Given the description of an element on the screen output the (x, y) to click on. 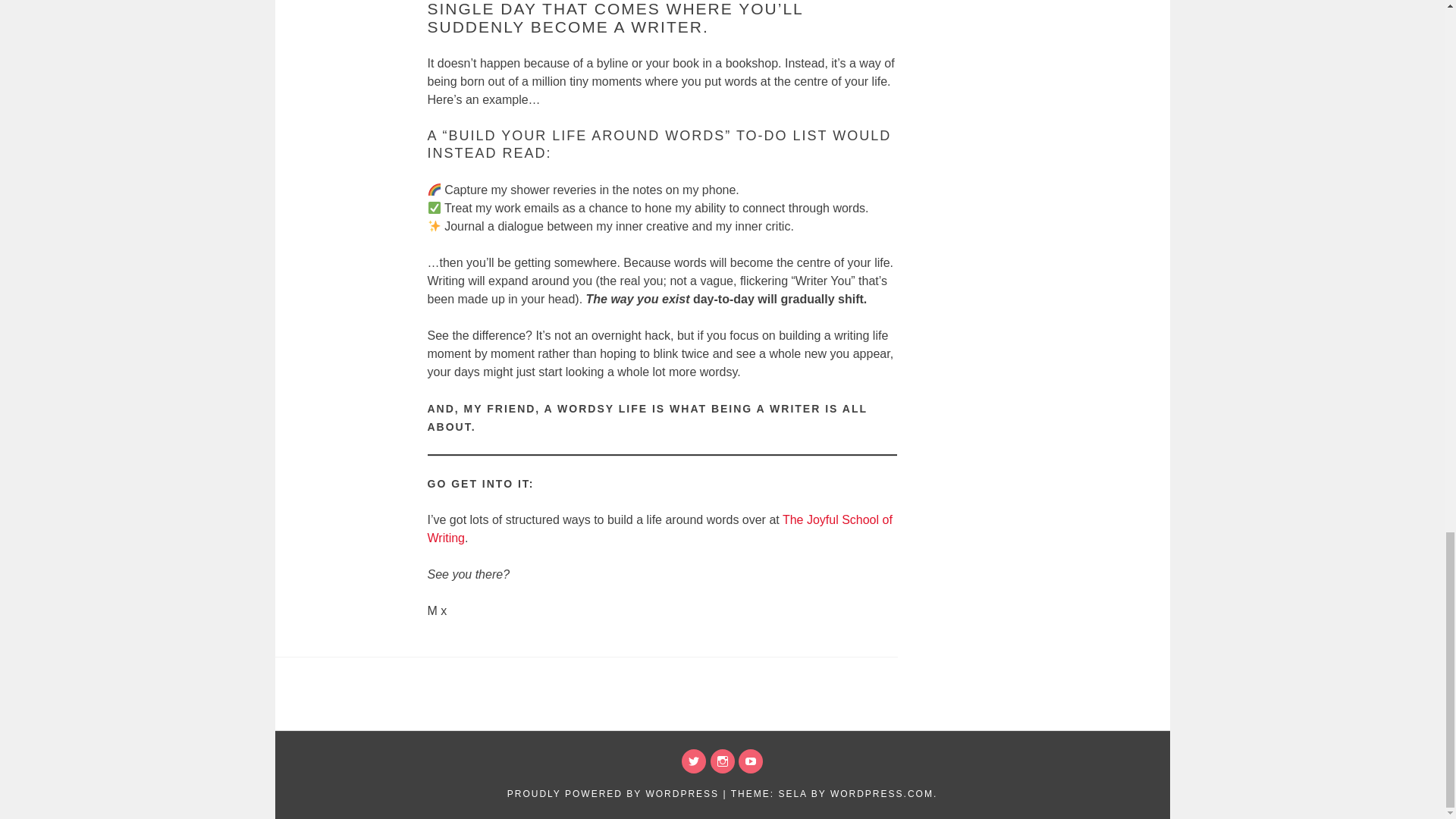
INSTAGRAM (721, 761)
TWITTER (693, 761)
YOUTUBE (750, 761)
The Joyful School of Writing (660, 528)
A Semantic Personal Publishing Platform (612, 793)
